Given the description of an element on the screen output the (x, y) to click on. 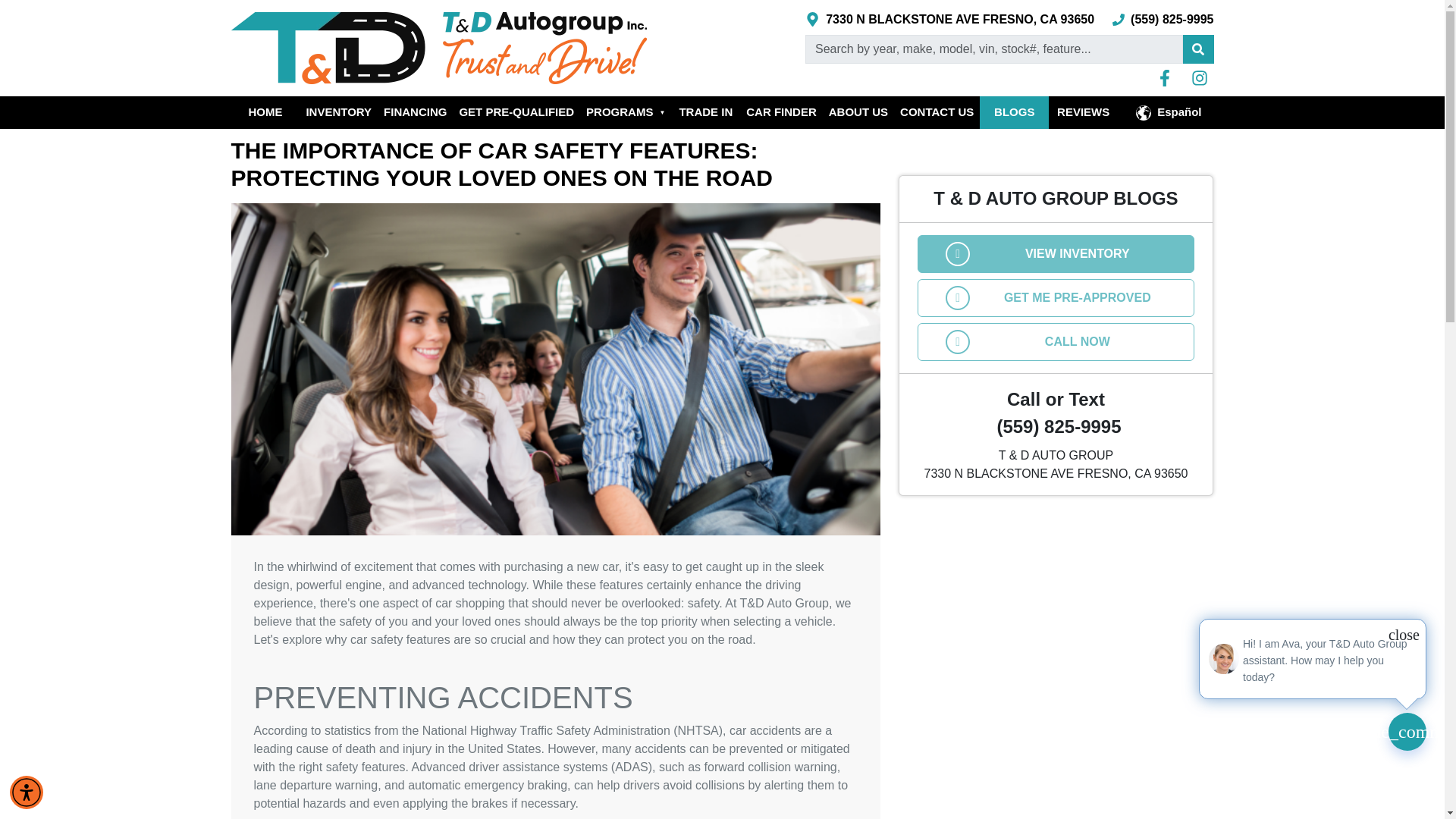
Accessibility Menu (26, 792)
CALL NOW (1056, 341)
7330 N BLACKSTONE AVE FRESNO, CA 93650 (949, 19)
BLOGS (1013, 112)
REVIEWS (1083, 112)
ABOUT US (857, 112)
CAR FINDER (780, 112)
TRADE IN (705, 112)
GET PRE-QUALIFIED (515, 112)
FINANCING (414, 112)
CONTACT US (936, 112)
HOME (264, 112)
GET ME PRE-APPROVED (1056, 297)
VIEW INVENTORY (1056, 253)
INVENTORY (338, 112)
